Given the description of an element on the screen output the (x, y) to click on. 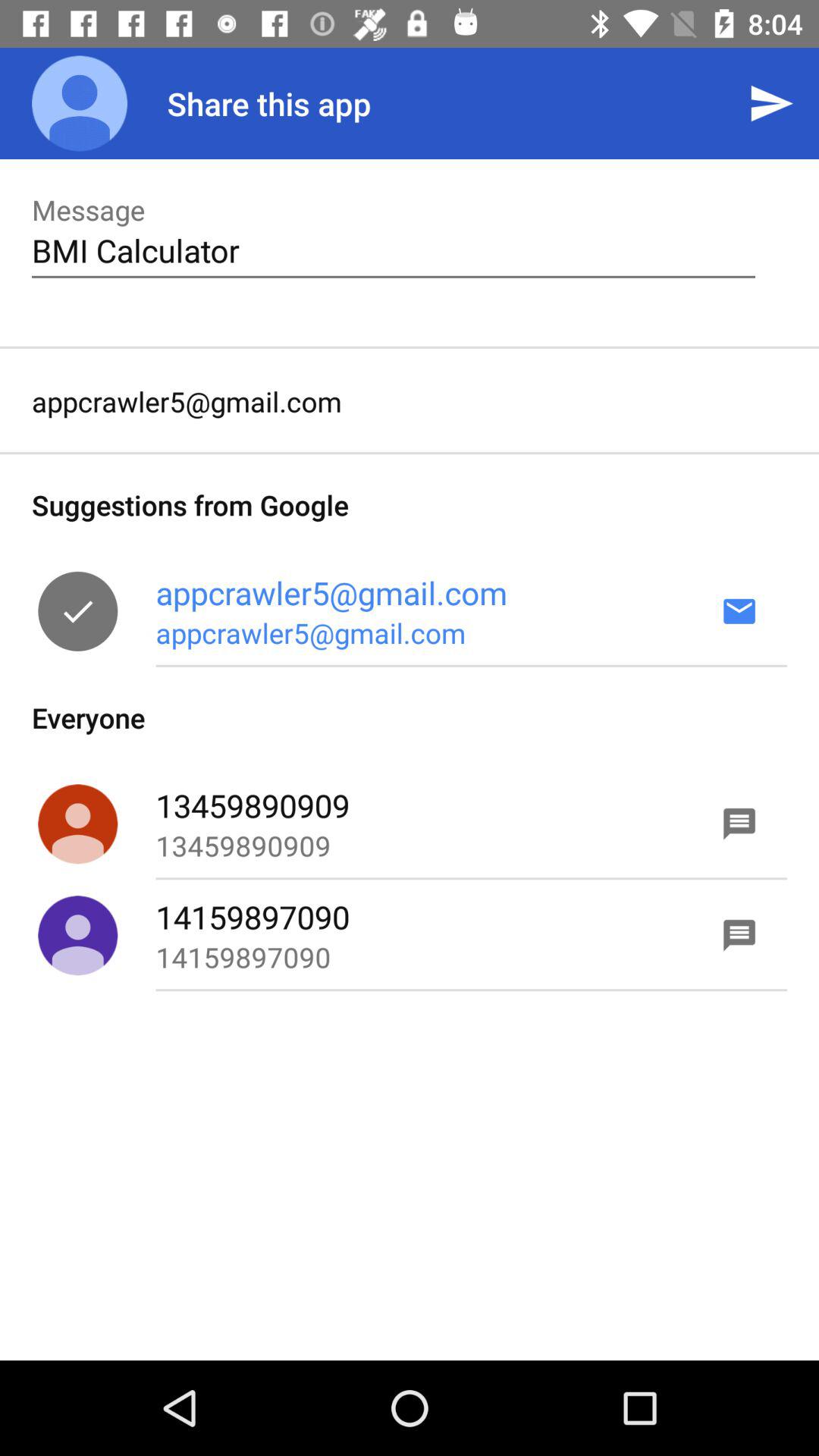
press the icon above the bmi calculator  item (771, 103)
